Given the description of an element on the screen output the (x, y) to click on. 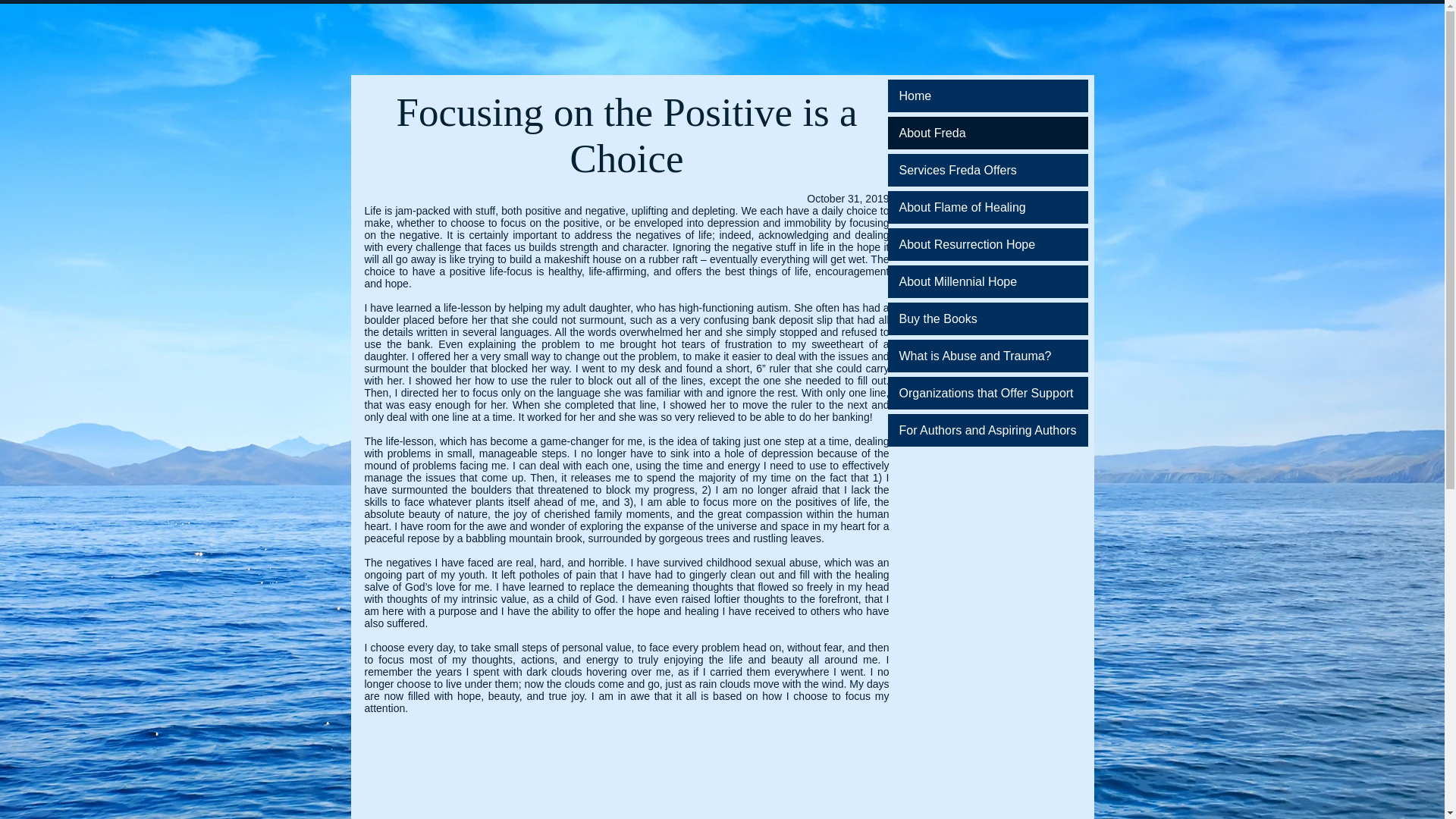
About Resurrection Hope (986, 244)
For Authors and Aspiring Authors (986, 430)
About Millennial Hope (986, 281)
What is Abuse and Trauma? (986, 355)
About Freda (986, 133)
Organizations that Offer Support (986, 392)
Home (986, 95)
Services Freda Offers (986, 169)
About Flame of Healing (986, 206)
Buy the Books (986, 318)
